Given the description of an element on the screen output the (x, y) to click on. 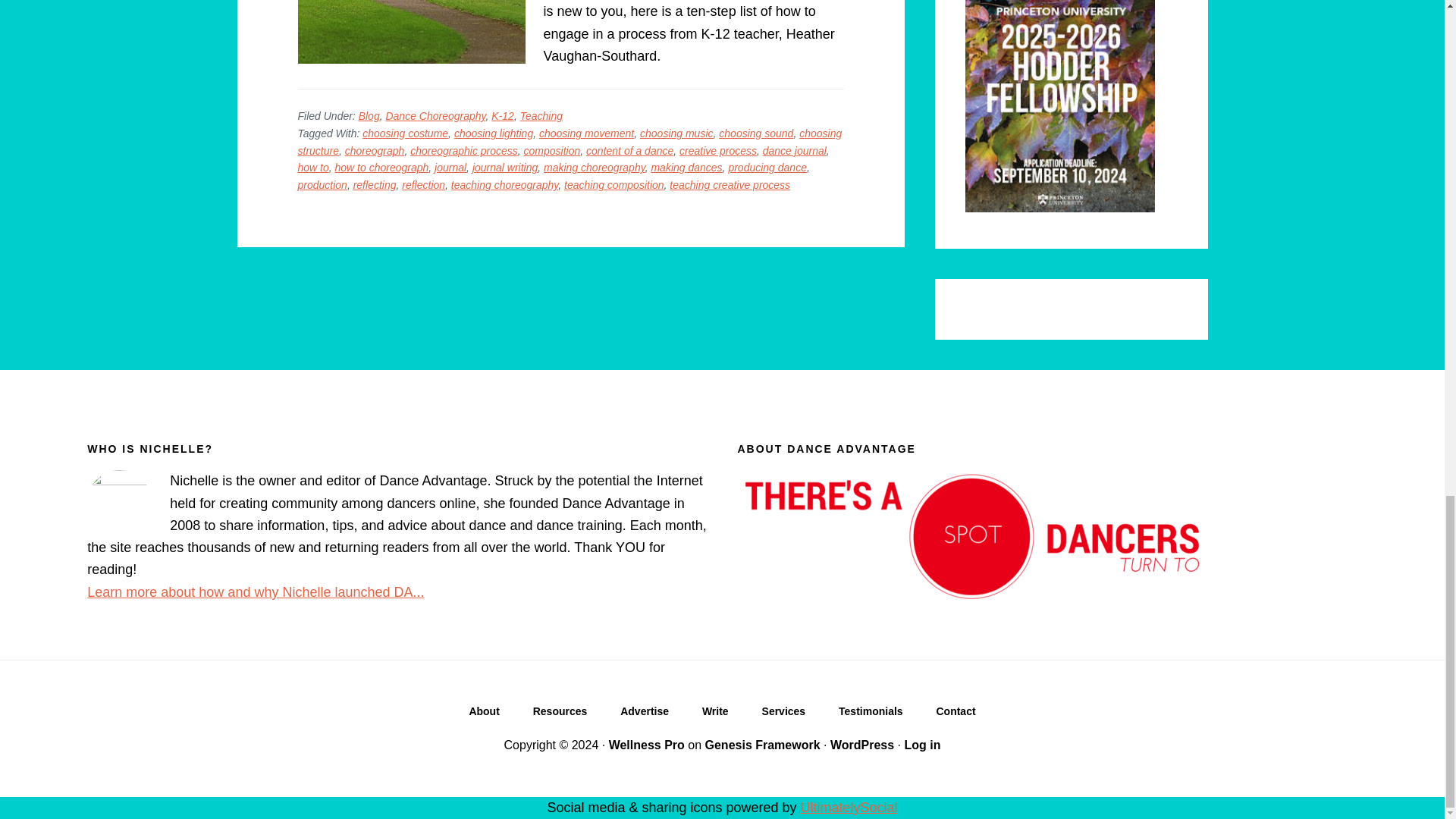
Stuff we use and like (560, 714)
CLICK to see what makes DA tick (482, 714)
